Given the description of an element on the screen output the (x, y) to click on. 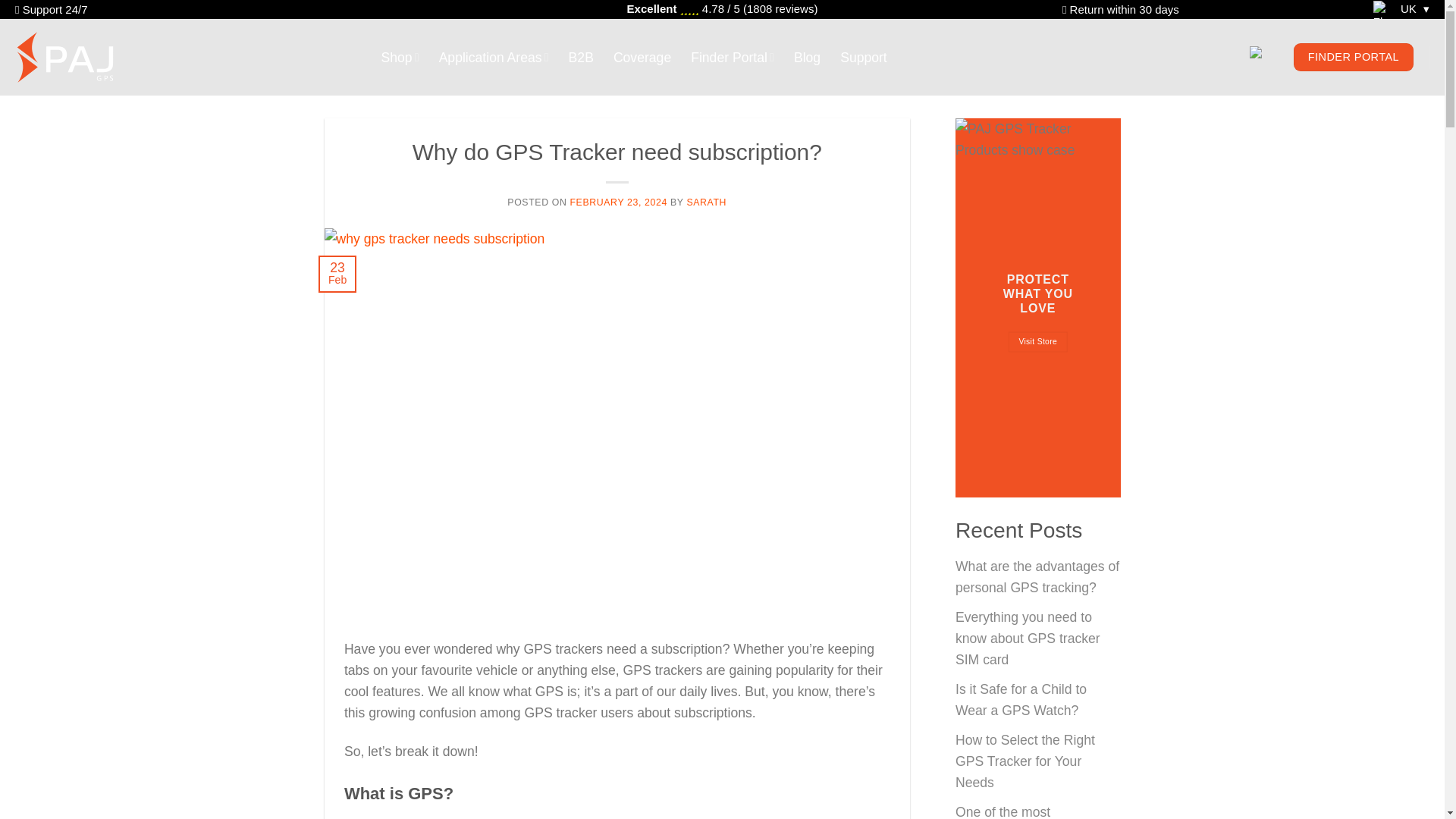
Application Areas (493, 57)
UK (1396, 8)
PAJ GPS - Protect what is important to you (69, 56)
Return within 30 days (1124, 9)
